Given the description of an element on the screen output the (x, y) to click on. 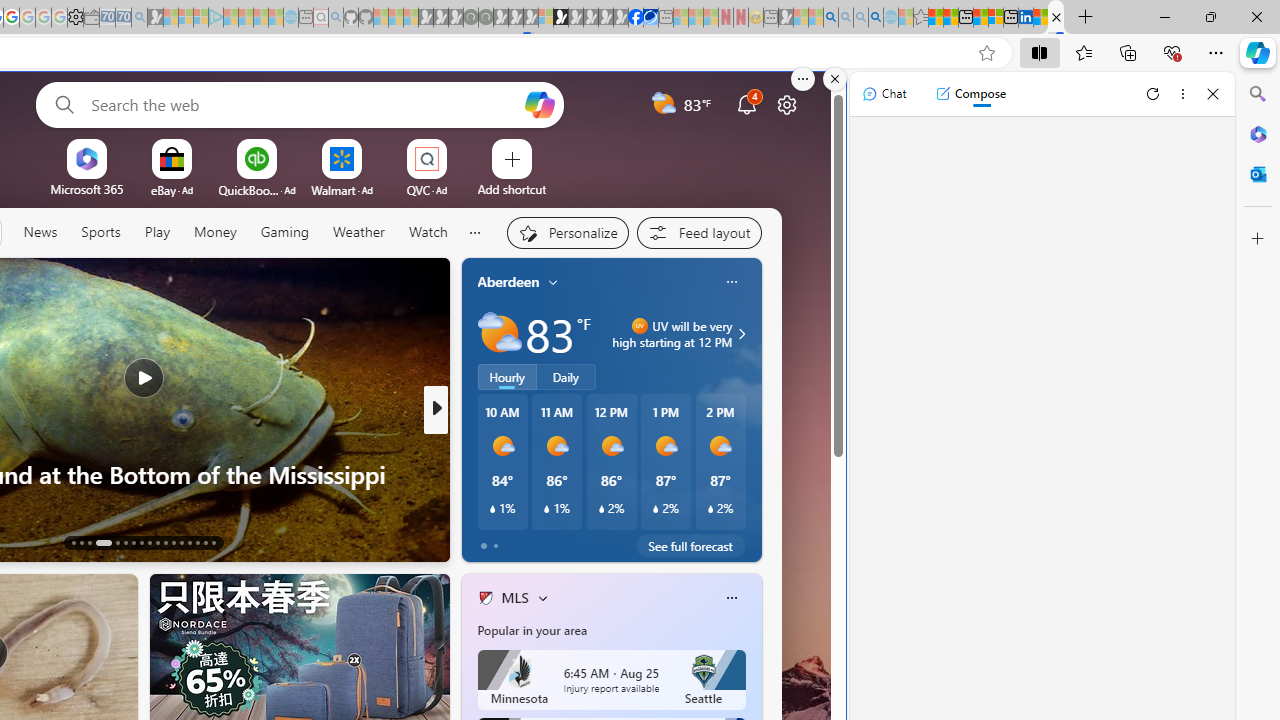
next (751, 409)
39 Like (487, 541)
Sign in to your account - Sleeping (545, 17)
8 Things I Did to Lose 25 Pounds in 6 Months (758, 506)
152 Like (490, 541)
